Given the description of an element on the screen output the (x, y) to click on. 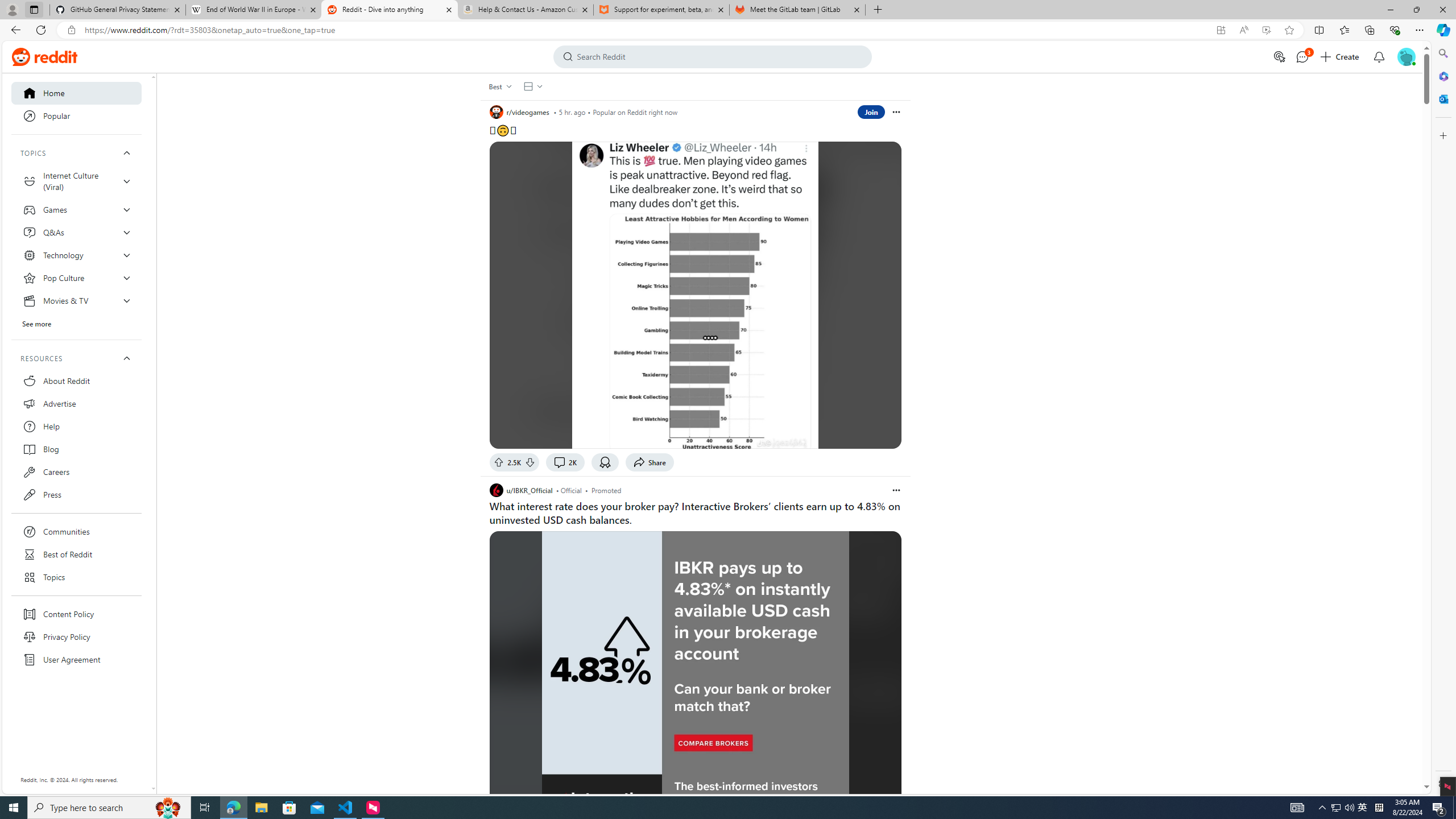
Internet Culture (Viral) (76, 181)
RESOURCES (76, 358)
Q&As (76, 232)
End of World War II in Europe - Wikipedia (253, 9)
Games (76, 209)
Open inbox (1378, 56)
Movies & TV (76, 300)
